Given the description of an element on the screen output the (x, y) to click on. 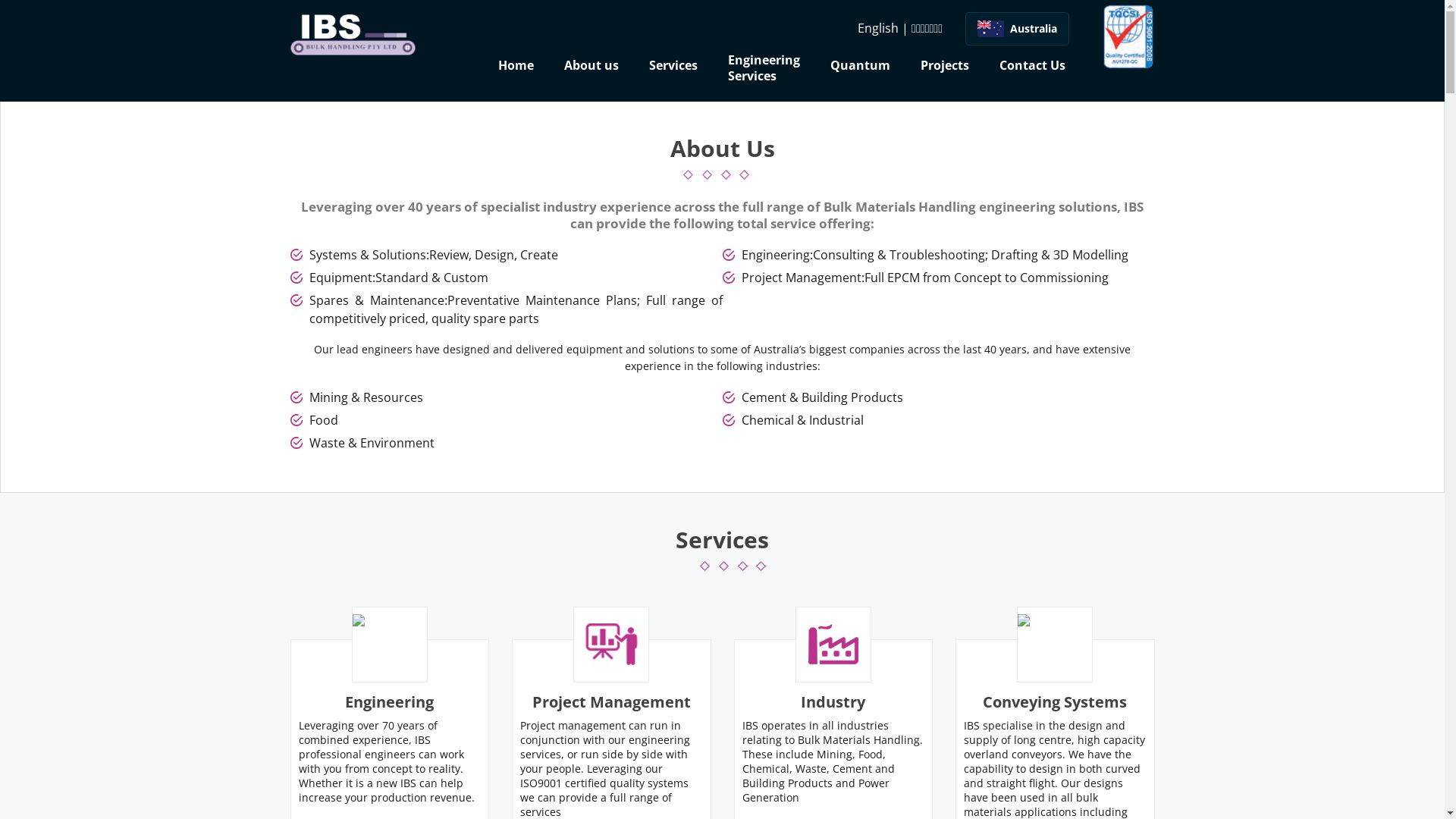
Australia Element type: text (1017, 28)
Services Element type: text (672, 66)
Home Element type: text (516, 66)
Projects Element type: text (944, 66)
Contact Us Element type: text (1032, 66)
English Element type: text (877, 27)
About us Element type: text (591, 66)
IBS Bulk Handling Element type: hover (351, 34)
Engineering
Services Element type: text (763, 73)
Quantum Element type: text (860, 66)
